Given the description of an element on the screen output the (x, y) to click on. 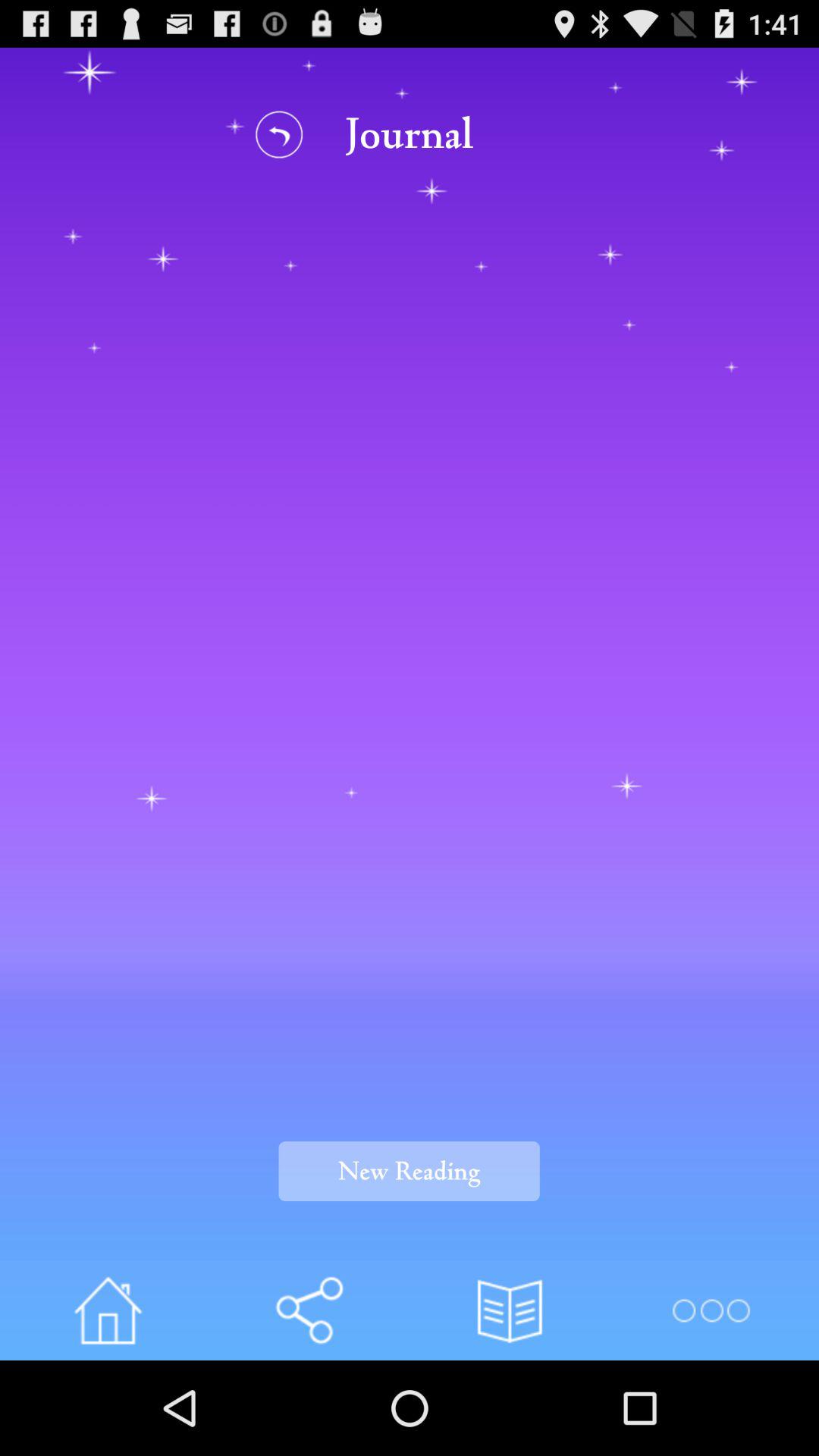
view journals (509, 1310)
